Given the description of an element on the screen output the (x, y) to click on. 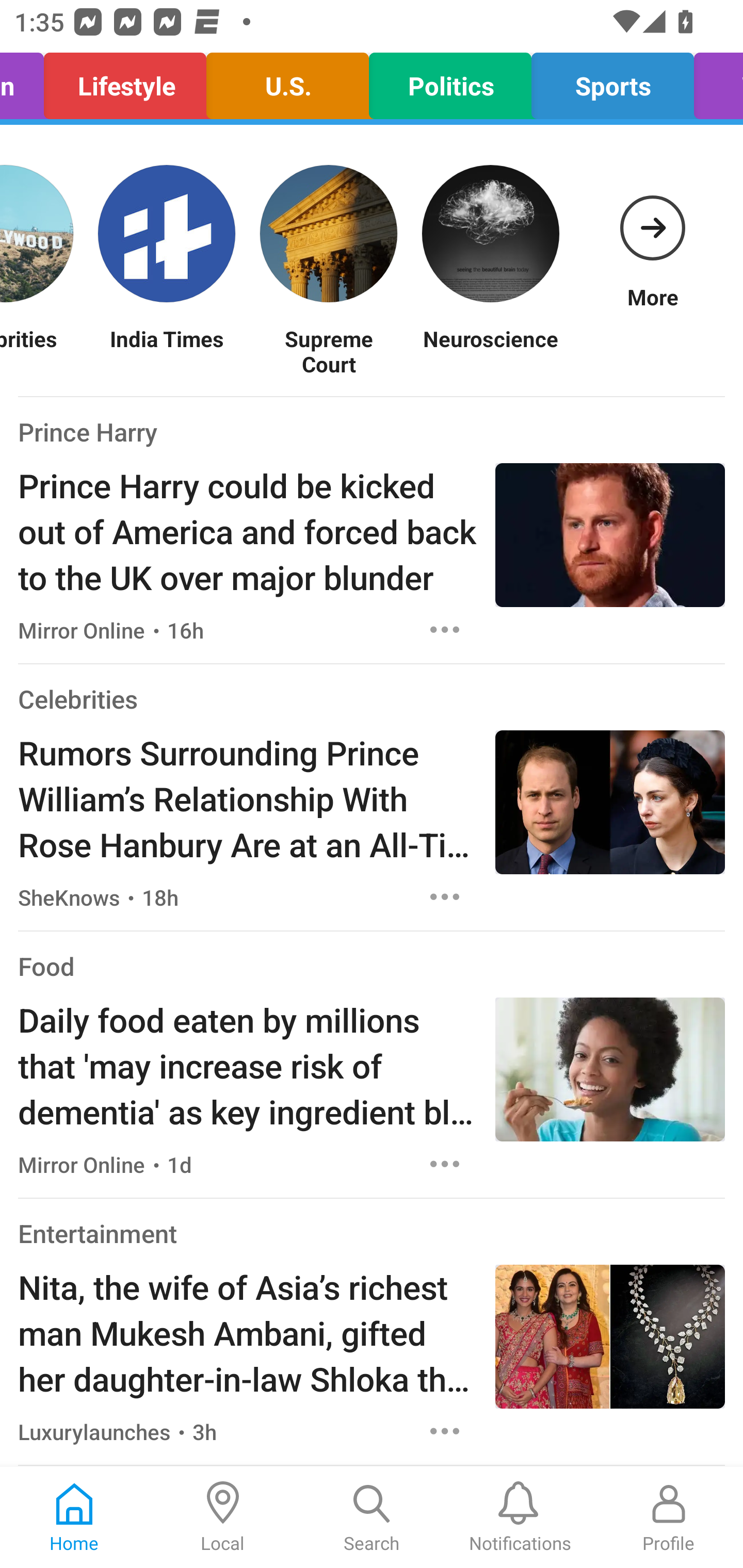
Lifestyle (124, 81)
U.S. (287, 81)
Politics (450, 81)
Sports (612, 81)
More (652, 233)
India Times (166, 350)
Supreme Court (328, 350)
Neuroscience (490, 350)
Prince Harry (87, 430)
Options (444, 629)
Celebrities (77, 699)
Options (444, 896)
Food (46, 965)
Options (444, 1164)
Entertainment (97, 1232)
Options (444, 1431)
Local (222, 1517)
Search (371, 1517)
Notifications (519, 1517)
Profile (668, 1517)
